Given the description of an element on the screen output the (x, y) to click on. 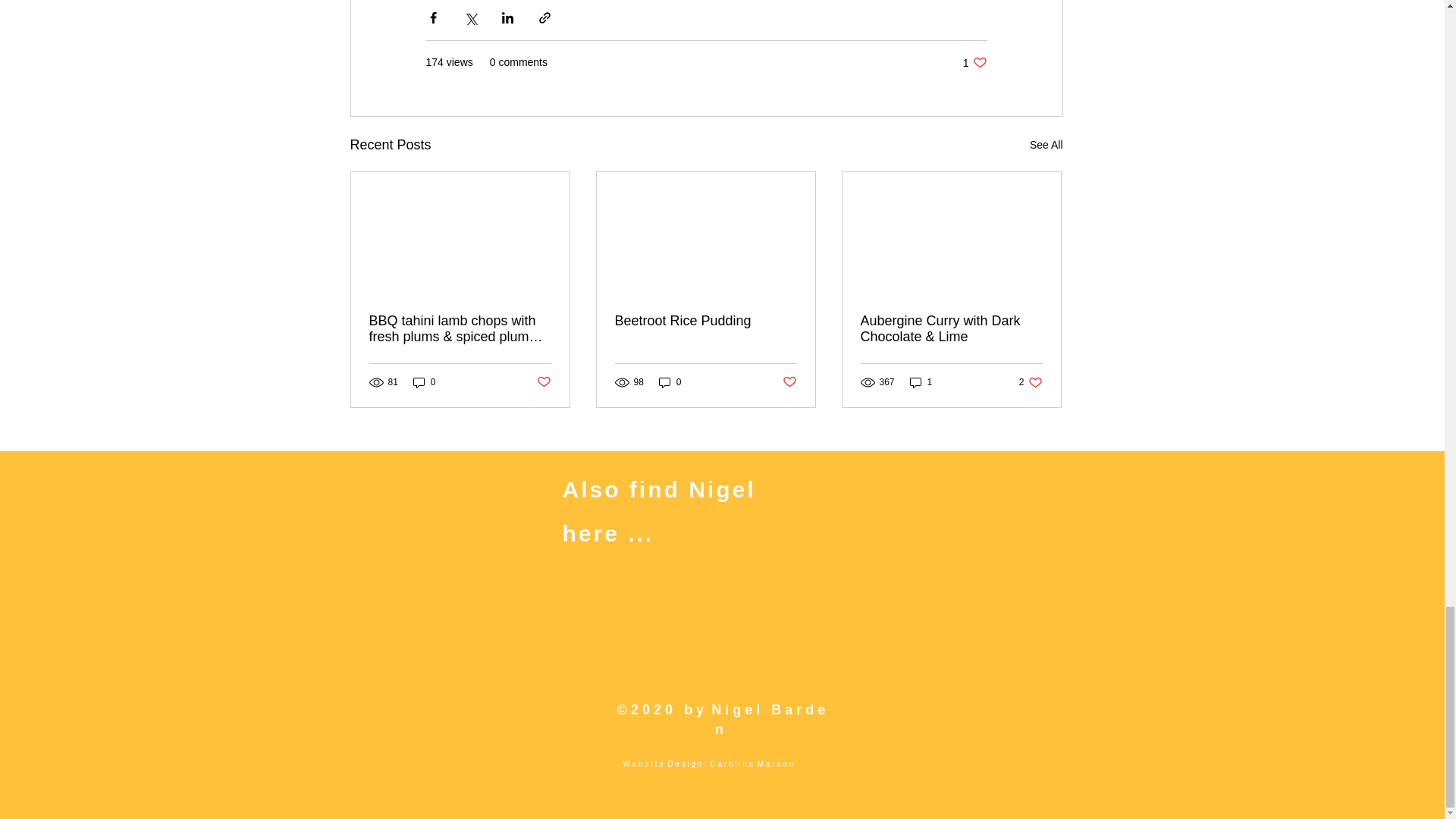
0 (1030, 382)
0 (974, 62)
1 (670, 382)
Post not marked as liked (425, 382)
Post not marked as liked (921, 382)
See All (544, 382)
Beetroot Rice Pudding (789, 382)
